Given the description of an element on the screen output the (x, y) to click on. 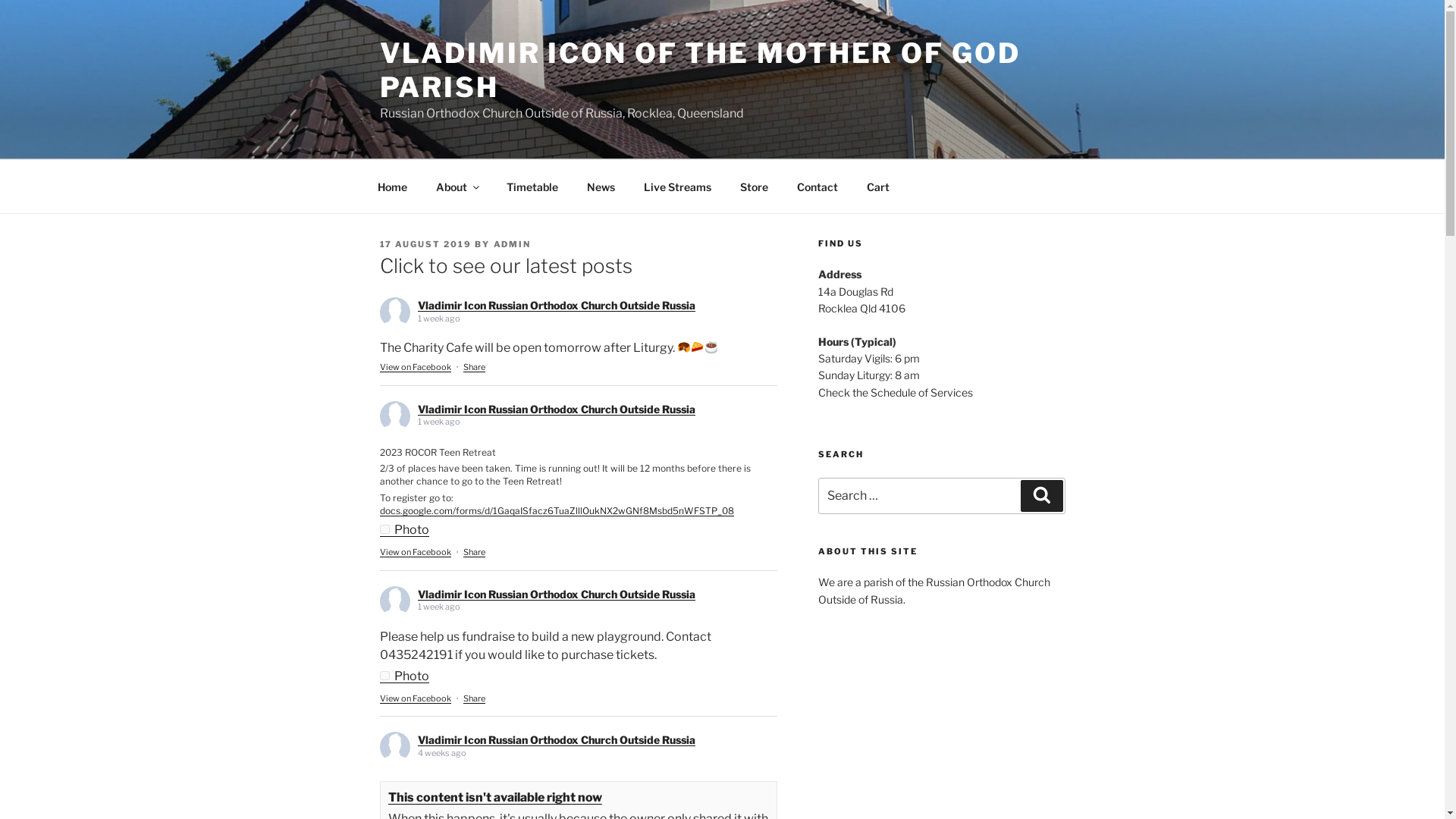
ADMIN Element type: text (511, 243)
Store Element type: text (753, 186)
Share Element type: text (473, 366)
This content isn't available right now Element type: text (495, 797)
Cart Element type: text (878, 186)
Share Element type: text (473, 698)
VLADIMIR ICON OF THE MOTHER OF GOD PARISH Element type: text (699, 69)
Live Streams Element type: text (677, 186)
Contact Element type: text (817, 186)
News Element type: text (600, 186)
About Element type: text (457, 186)
Vladimir Icon Russian Orthodox Church Outside Russia Element type: text (555, 408)
Home Element type: text (392, 186)
Photo Element type: text (403, 529)
Vladimir Icon Russian Orthodox Church Outside Russia Element type: text (555, 739)
Vladimir Icon Russian Orthodox Church Outside Russia Element type: text (555, 593)
View on Facebook Element type: text (414, 551)
Timetable Element type: text (531, 186)
Search Element type: text (1041, 495)
Vladimir Icon Russian Orthodox Church Outside Russia Element type: text (555, 304)
View on Facebook Element type: text (414, 366)
Photo Element type: text (403, 675)
Share Element type: text (473, 551)
View on Facebook Element type: text (414, 698)
17 AUGUST 2019 Element type: text (425, 243)
